Given the description of an element on the screen output the (x, y) to click on. 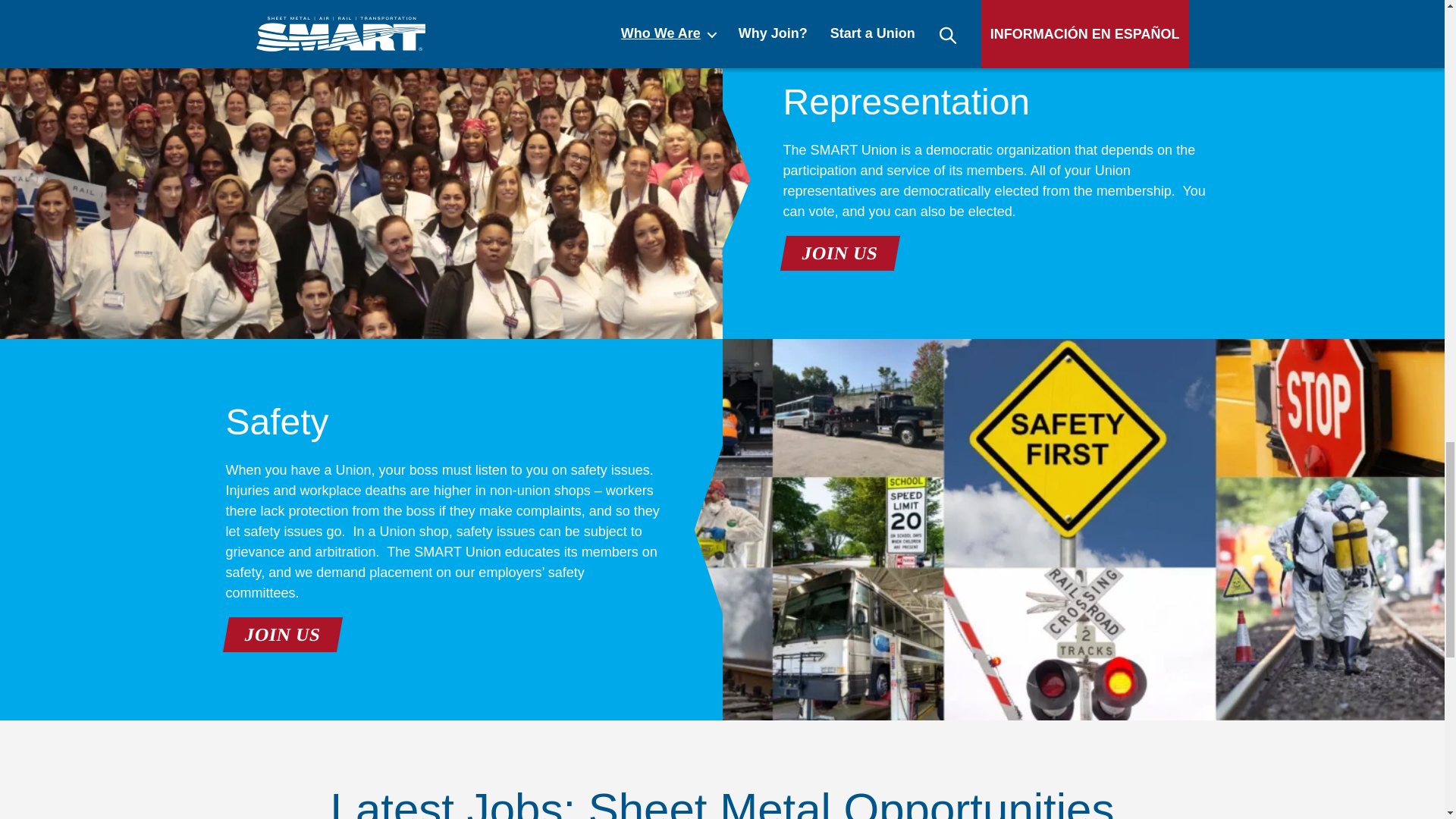
JOIN US (279, 634)
JOIN US (835, 253)
